Given the description of an element on the screen output the (x, y) to click on. 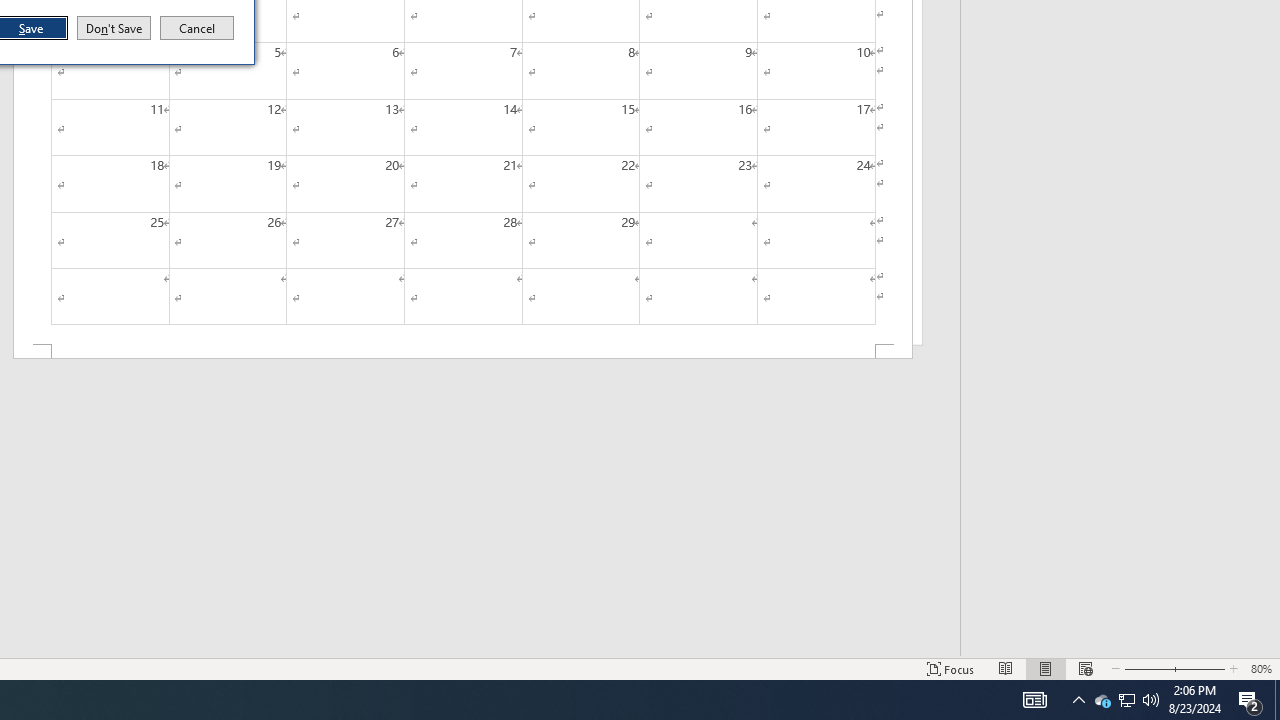
Don't Save (113, 27)
Footer -Section 2- (462, 351)
Read Mode (1005, 668)
Focus  (951, 668)
Zoom Out (1143, 668)
Action Center, 2 new notifications (1126, 699)
Zoom In (1250, 699)
Web Layout (1195, 668)
User Promoted Notification Area (1085, 668)
Notification Chevron (1126, 699)
Print Layout (1078, 699)
